Given the description of an element on the screen output the (x, y) to click on. 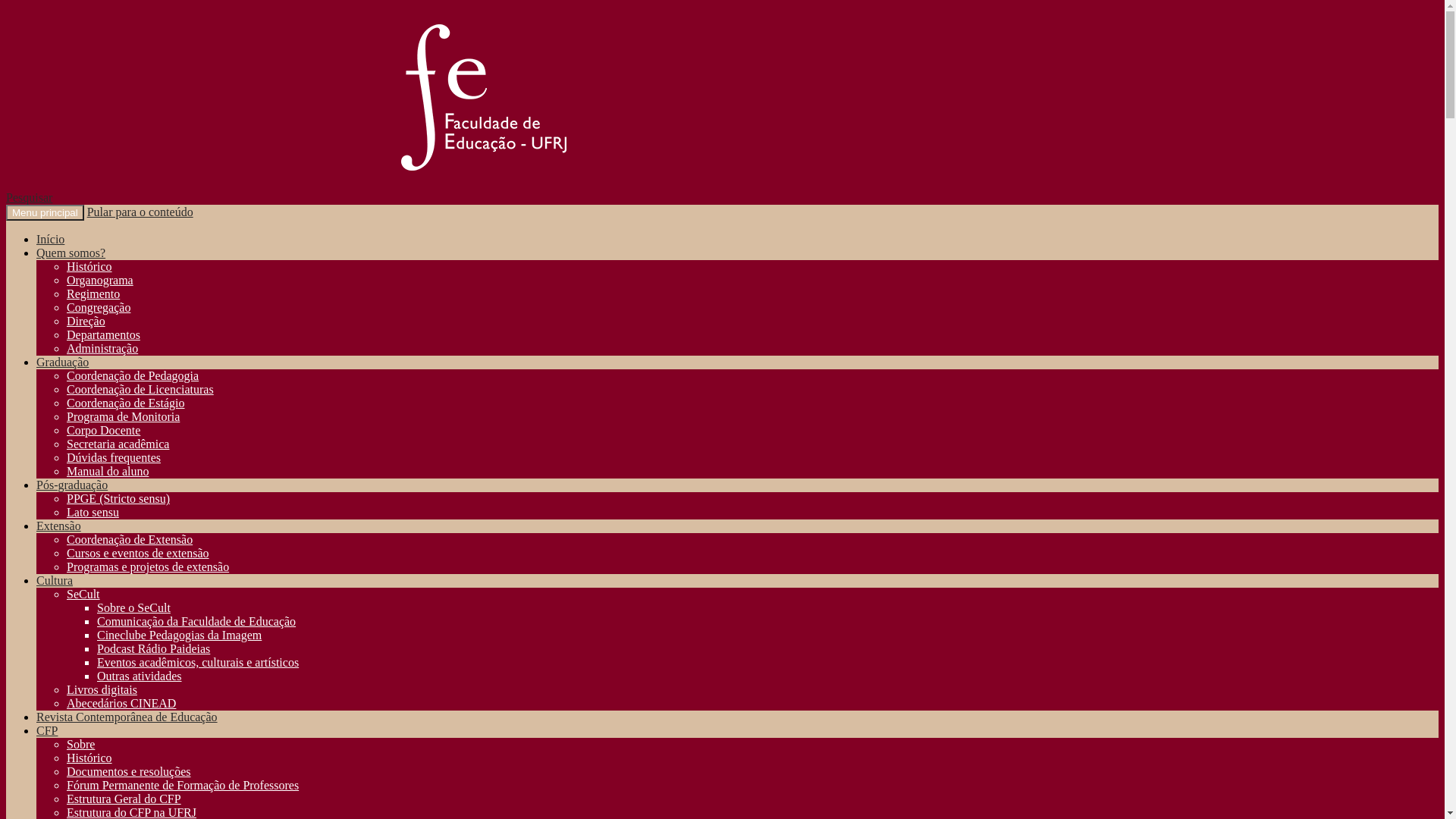
Sobre o SeCult Element type: text (133, 607)
Livros digitais Element type: text (101, 689)
Estrutura Geral do CFP Element type: text (123, 798)
CFP Element type: text (46, 730)
PPGE (Stricto sensu) Element type: text (117, 498)
Cineclube Pedagogias da Imagem Element type: text (179, 634)
Lato sensu Element type: text (92, 511)
Menu principal Element type: text (45, 212)
Programa de Monitoria Element type: text (122, 416)
SeCult Element type: text (83, 593)
Pesquisar Element type: text (29, 197)
Sobre Element type: text (80, 743)
Quem somos? Element type: text (70, 252)
Corpo Docente Element type: text (103, 429)
Manual do aluno Element type: text (107, 470)
Departamentos Element type: text (103, 334)
Organograma Element type: text (99, 279)
Regimento Element type: text (92, 293)
Cultura Element type: text (54, 580)
Outras atividades Element type: text (139, 675)
